Given the description of an element on the screen output the (x, y) to click on. 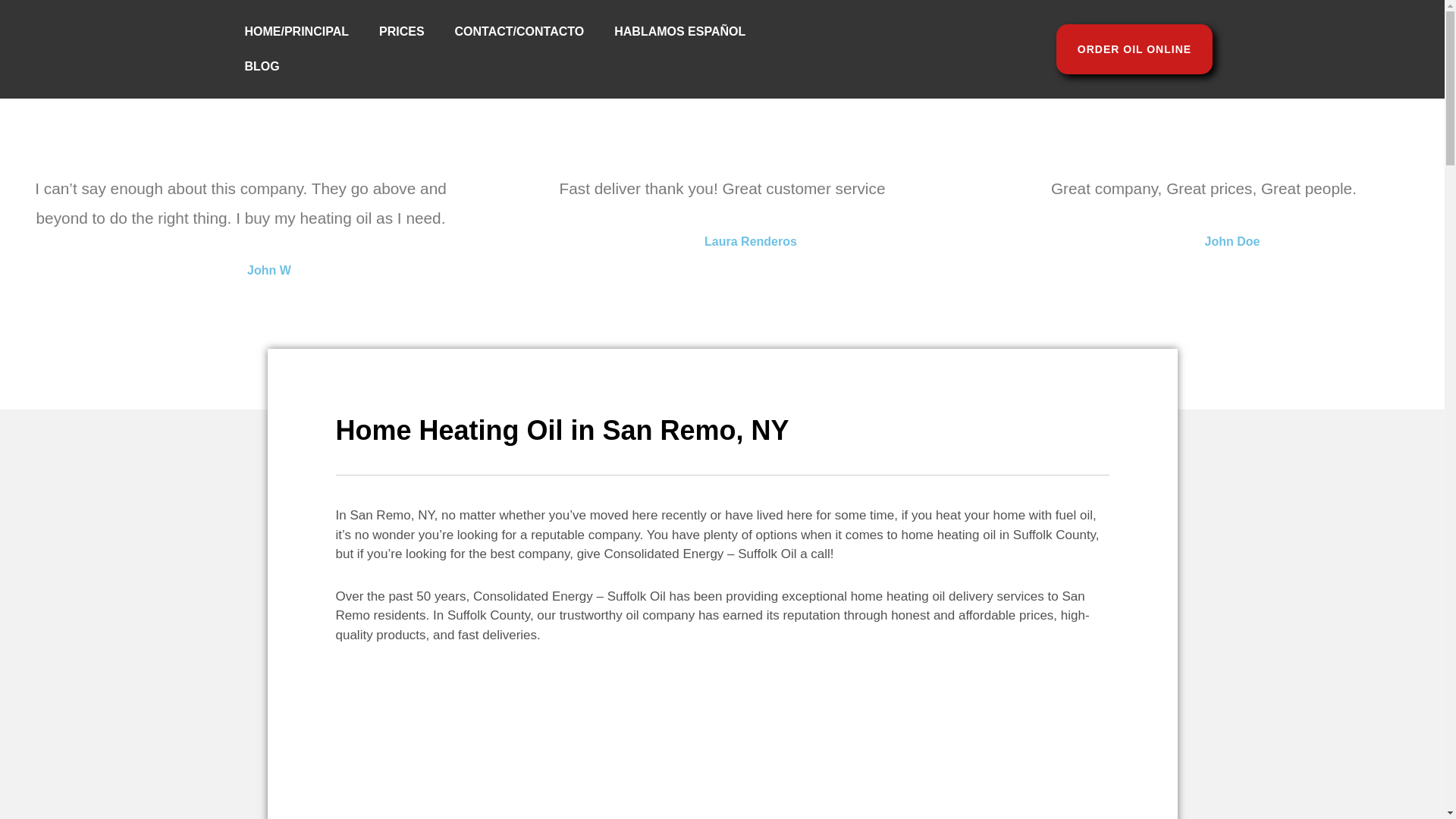
Heating,Fuel,Oil,Tank,Beside,Exterior,Wall. (896, 782)
BLOG (261, 66)
Delivery,Of,Fuel,To,A,Private,Individual (528, 754)
PRICES (401, 31)
ORDER OIL ONLINE (1134, 49)
